Given the description of an element on the screen output the (x, y) to click on. 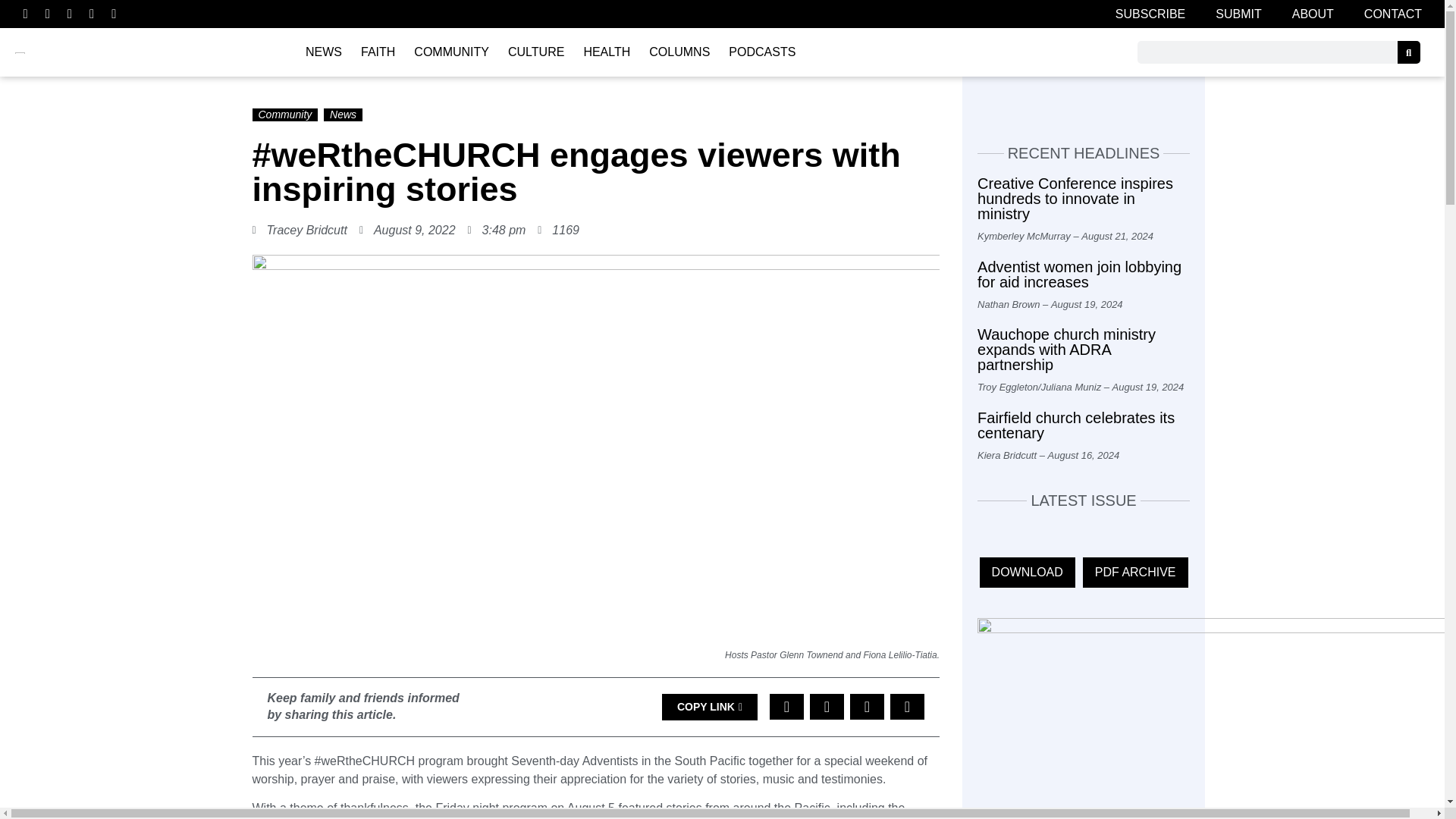
COLUMNS (679, 52)
SUBSCRIBE (1149, 14)
Community (284, 114)
Tracey Bridcutt (306, 229)
HEALTH (606, 52)
FAITH (378, 52)
Posts by Tracey Bridcutt (306, 229)
PODCASTS (761, 52)
Posts by Nathan Brown (1007, 304)
SUBMIT (1237, 14)
